Given the description of an element on the screen output the (x, y) to click on. 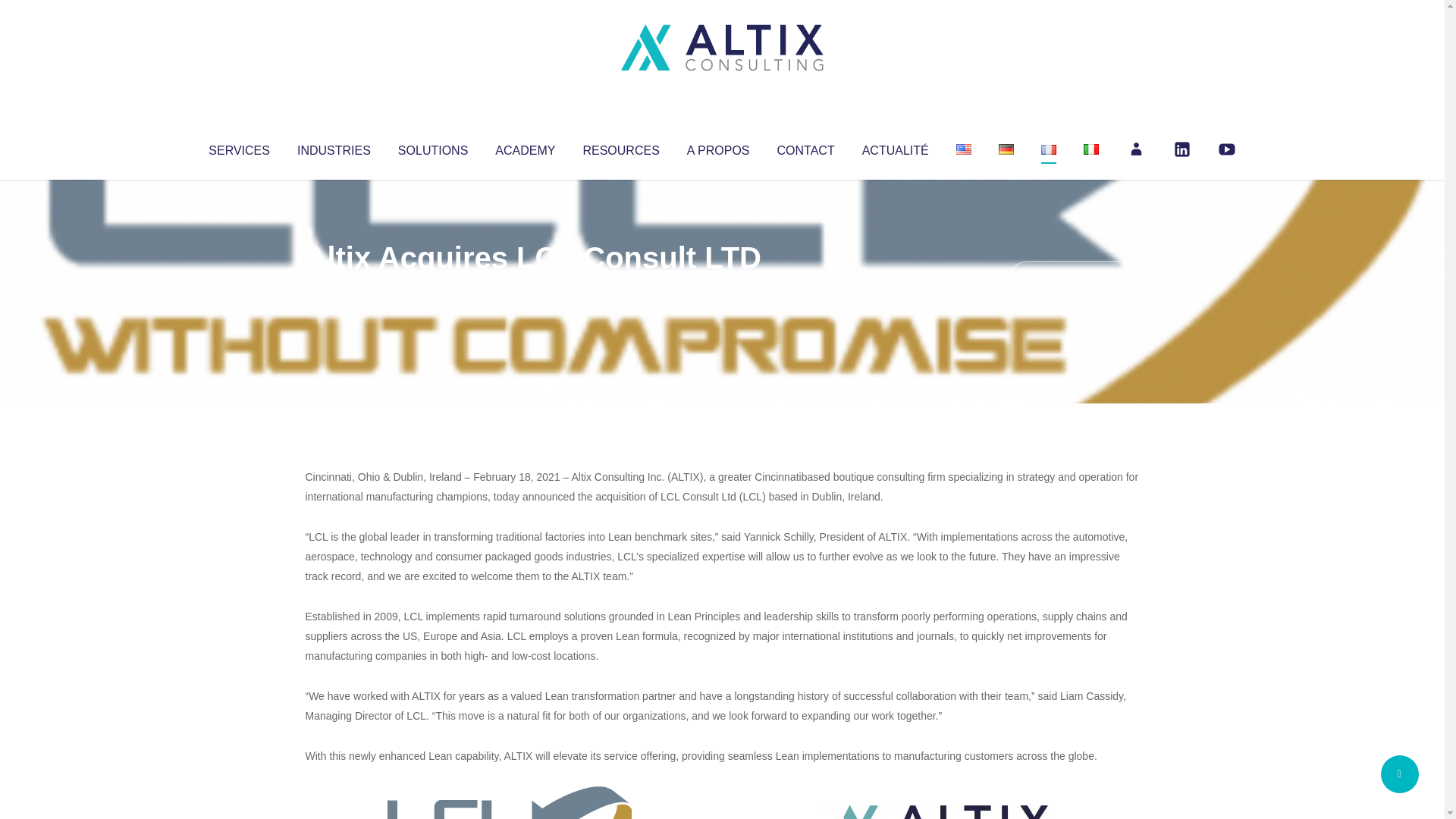
No Comments (1073, 278)
ACADEMY (524, 146)
Uncategorized (530, 287)
Altix (333, 287)
SOLUTIONS (432, 146)
INDUSTRIES (334, 146)
SERVICES (238, 146)
A PROPOS (718, 146)
Articles par Altix (333, 287)
RESOURCES (620, 146)
